Given the description of an element on the screen output the (x, y) to click on. 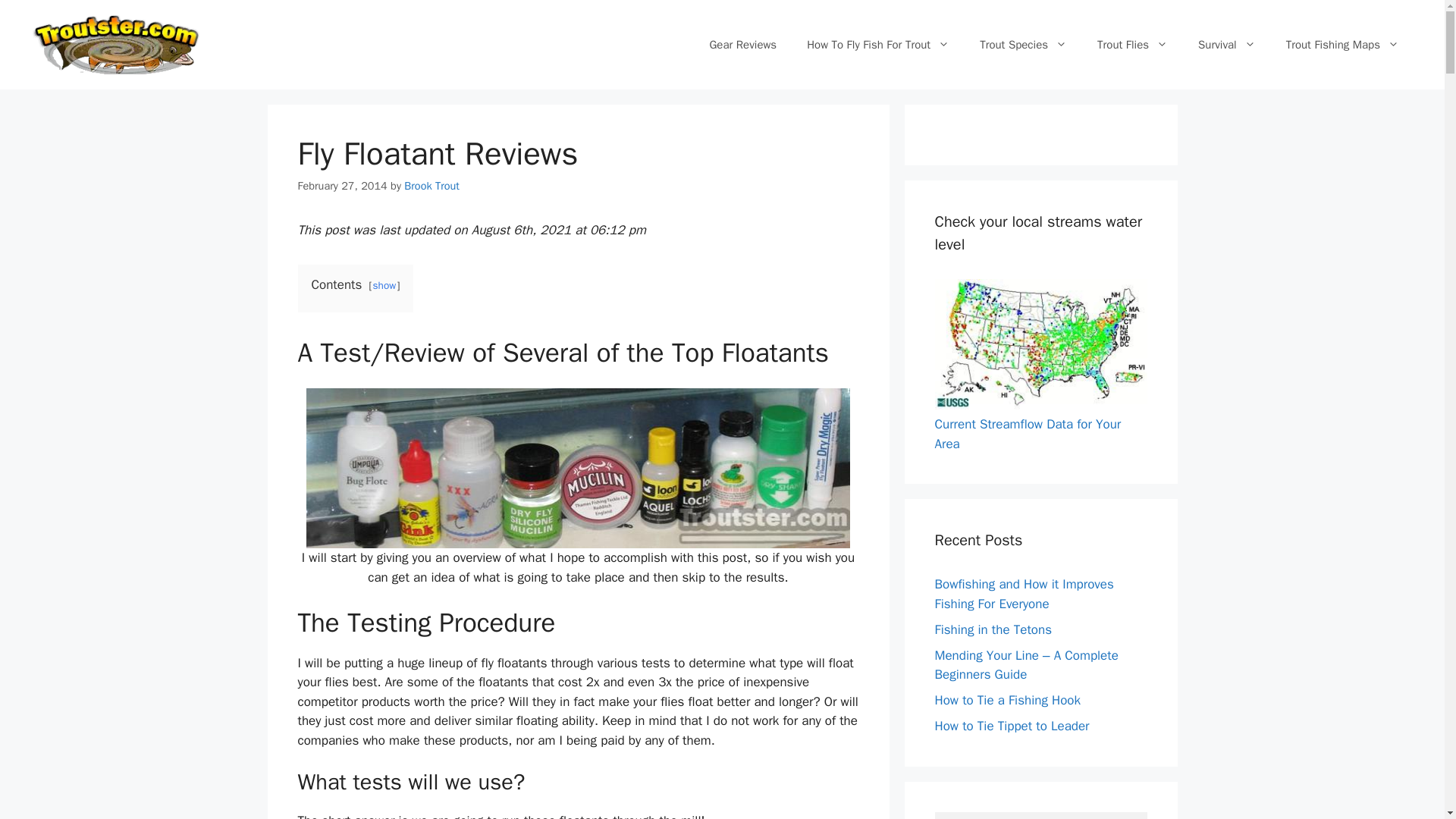
Check your local streams water level (1040, 405)
Gear Reviews (743, 44)
Trout Species (1022, 44)
View all posts by Brook Trout (432, 185)
How To Fly Fish For Trout (877, 44)
